Given the description of an element on the screen output the (x, y) to click on. 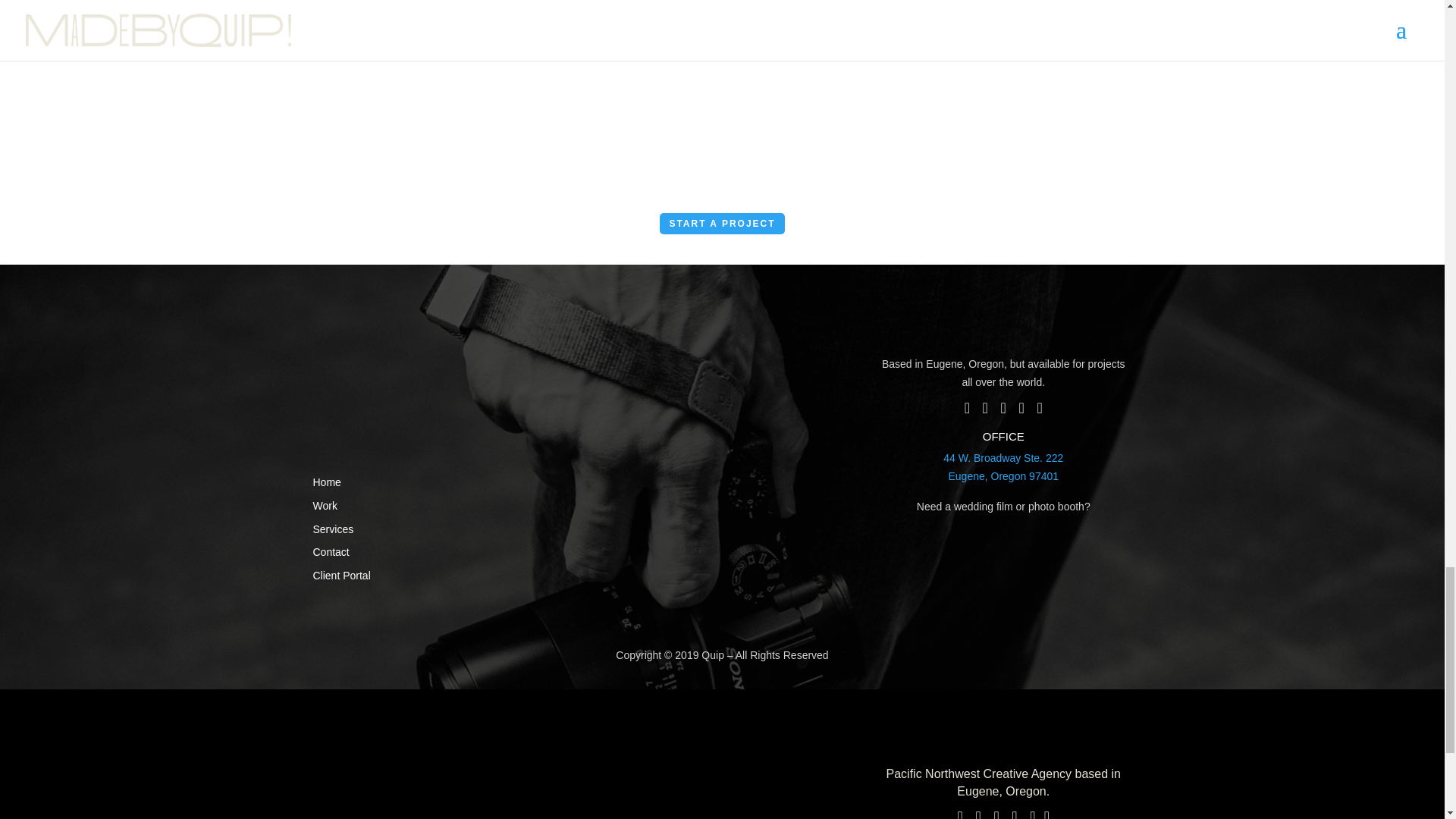
START A PROJECT (721, 223)
Services (1002, 467)
Home (333, 529)
Contact (326, 481)
Client Portal (331, 551)
Work (341, 575)
VISIT SITE (324, 505)
